Given the description of an element on the screen output the (x, y) to click on. 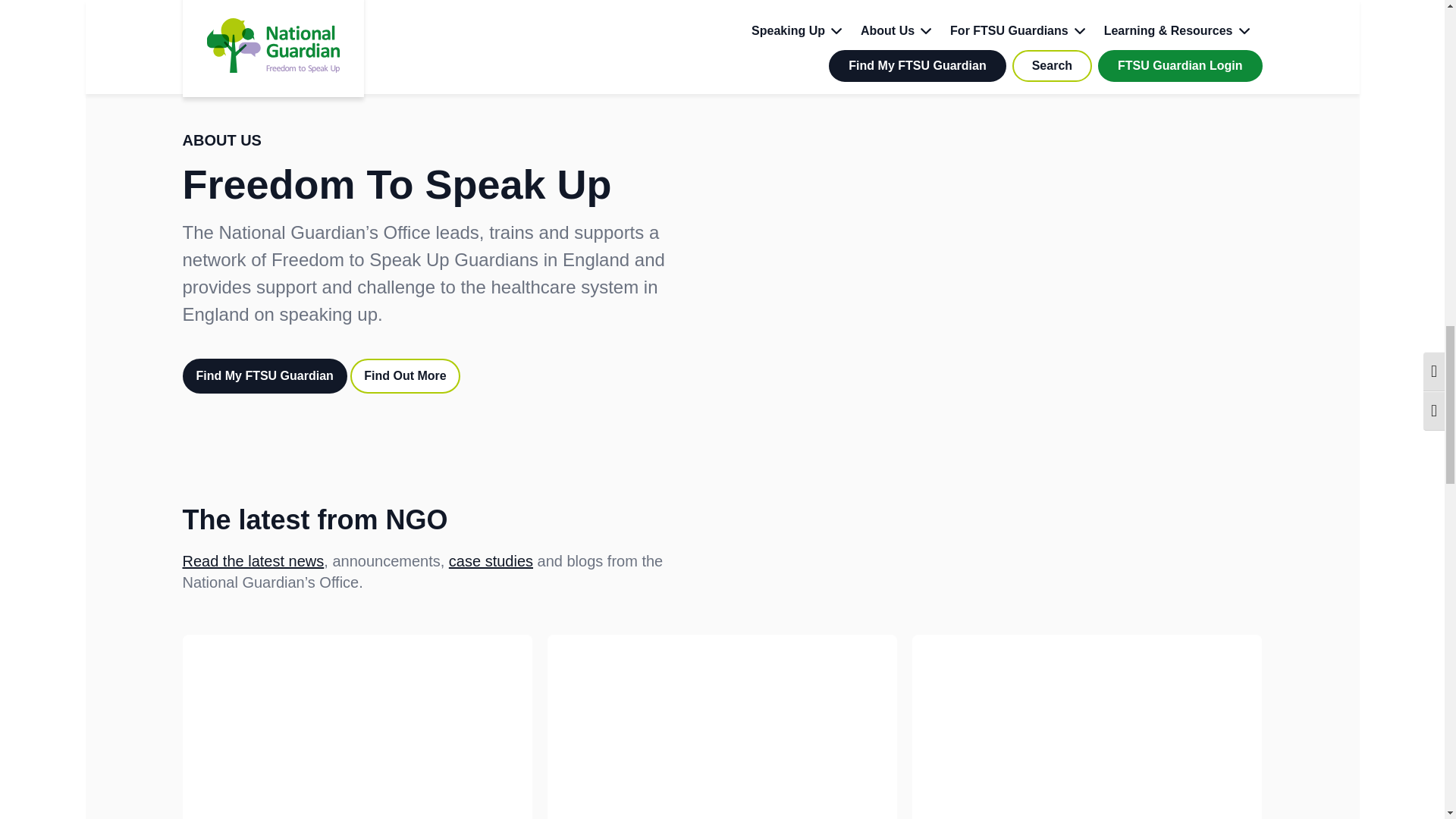
Find My FTSU Guardian (264, 375)
Find Out More (405, 375)
